Given the description of an element on the screen output the (x, y) to click on. 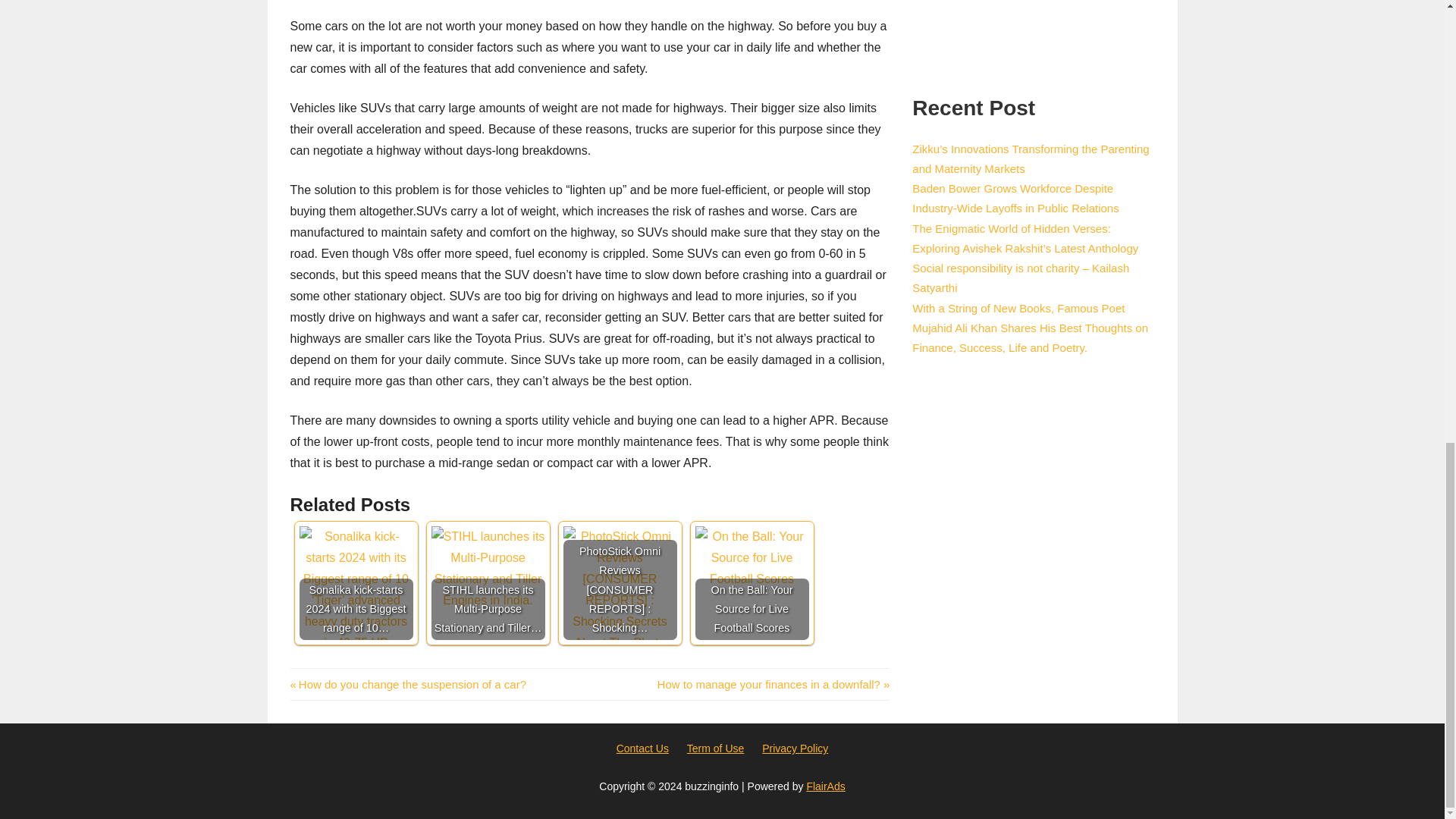
On the Ball: Your Source for Live Football Scores (773, 684)
On the Ball: Your Source for Live Football Scores (751, 582)
